Given the description of an element on the screen output the (x, y) to click on. 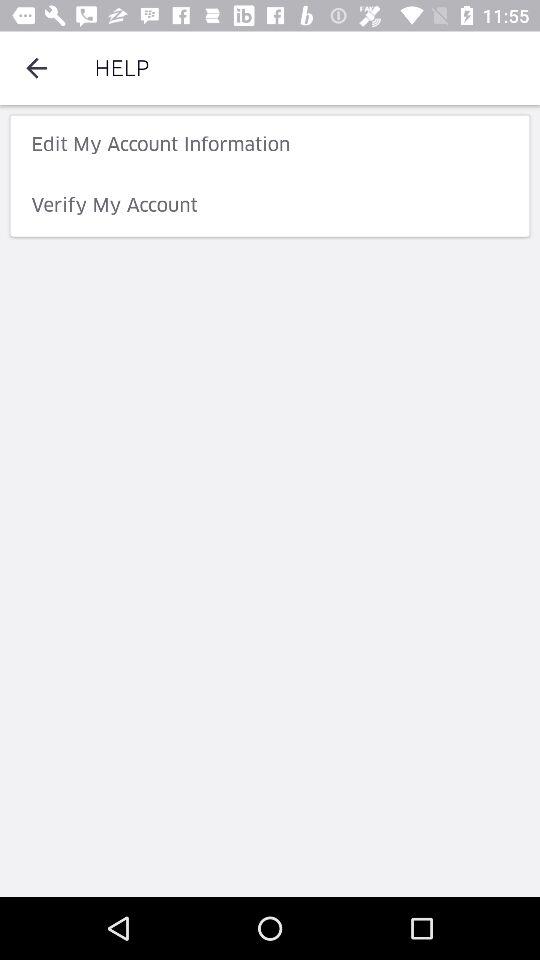
choose icon above the edit my account icon (36, 68)
